Given the description of an element on the screen output the (x, y) to click on. 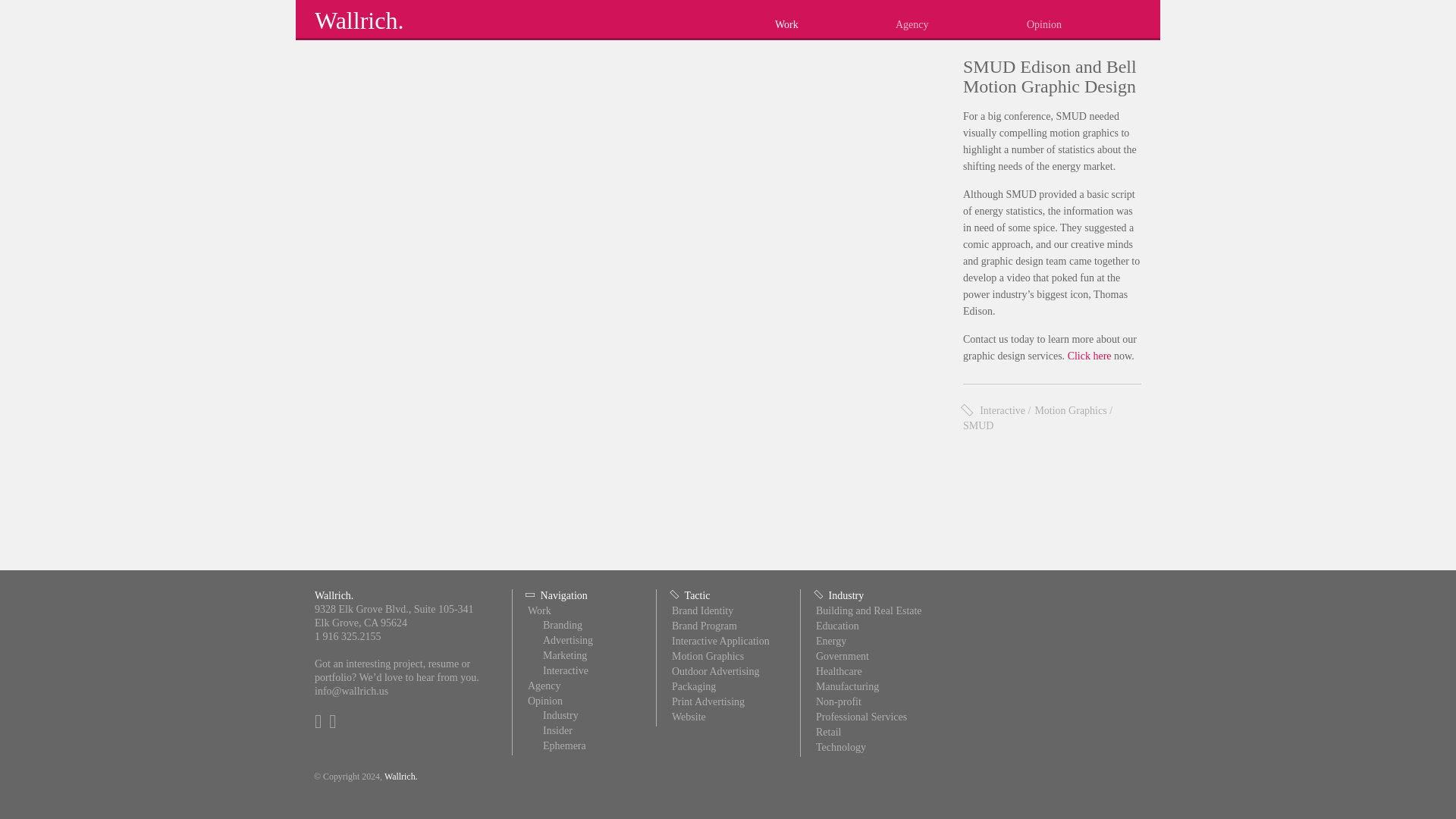
Outdoor Advertising (715, 671)
Agency (543, 685)
Motion Graphics (1069, 410)
Interactive Application (720, 641)
Wallrich. (358, 20)
Marketing (564, 655)
Interactive (1002, 410)
Ephemera (564, 745)
Advertising (567, 640)
Work (834, 20)
Brand Identity (702, 610)
Packaging (693, 686)
Education (837, 625)
Agency (960, 20)
SMUD (977, 425)
